Given the description of an element on the screen output the (x, y) to click on. 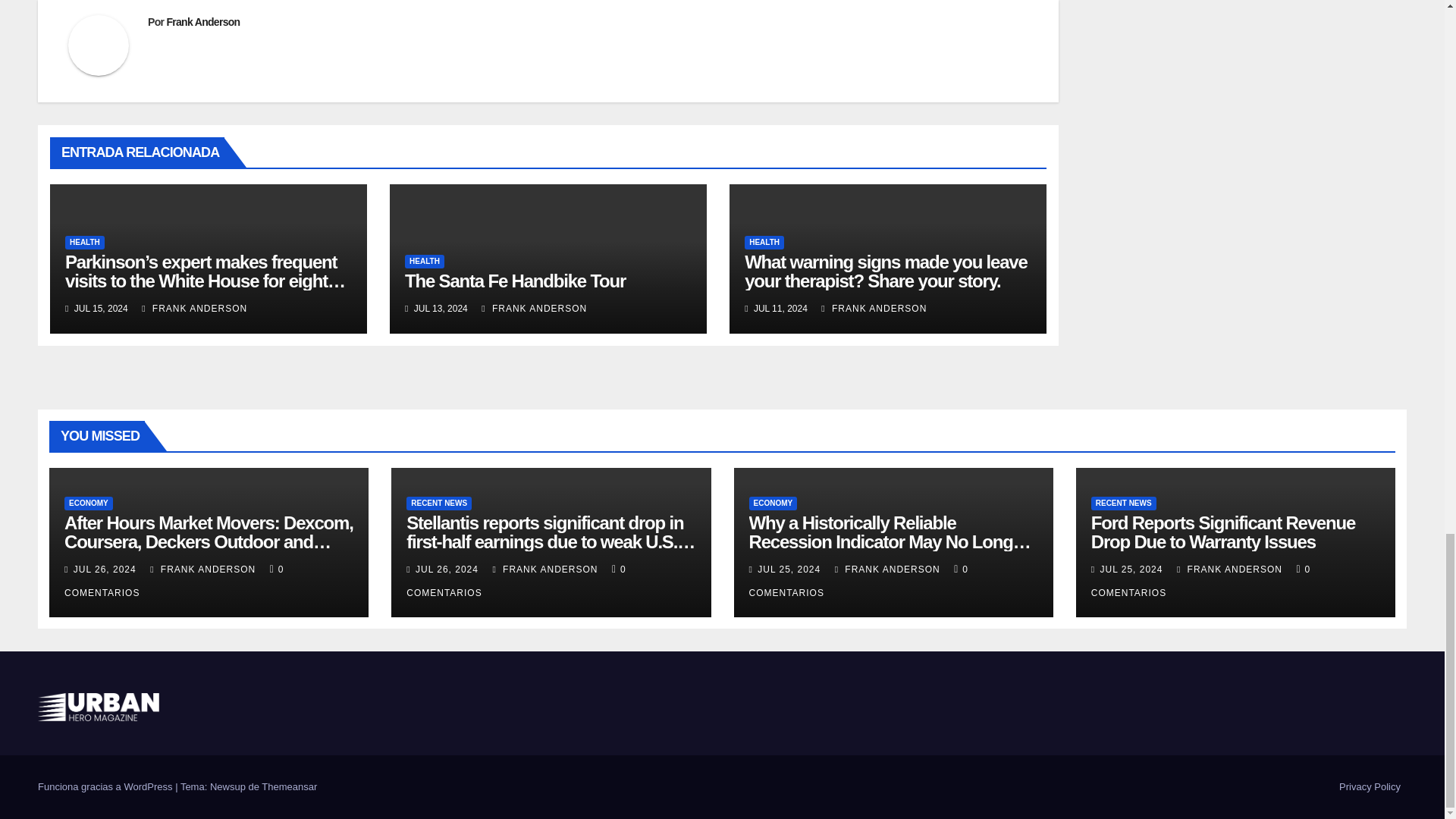
FRANK ANDERSON (533, 308)
Frank Anderson (202, 21)
HEALTH (764, 242)
HEALTH (424, 261)
FRANK ANDERSON (194, 308)
HEALTH (84, 242)
Permalink to: The Santa Fe Handbike Tour (515, 281)
Privacy Policy (1369, 786)
The Santa Fe Handbike Tour (515, 281)
